Given the description of an element on the screen output the (x, y) to click on. 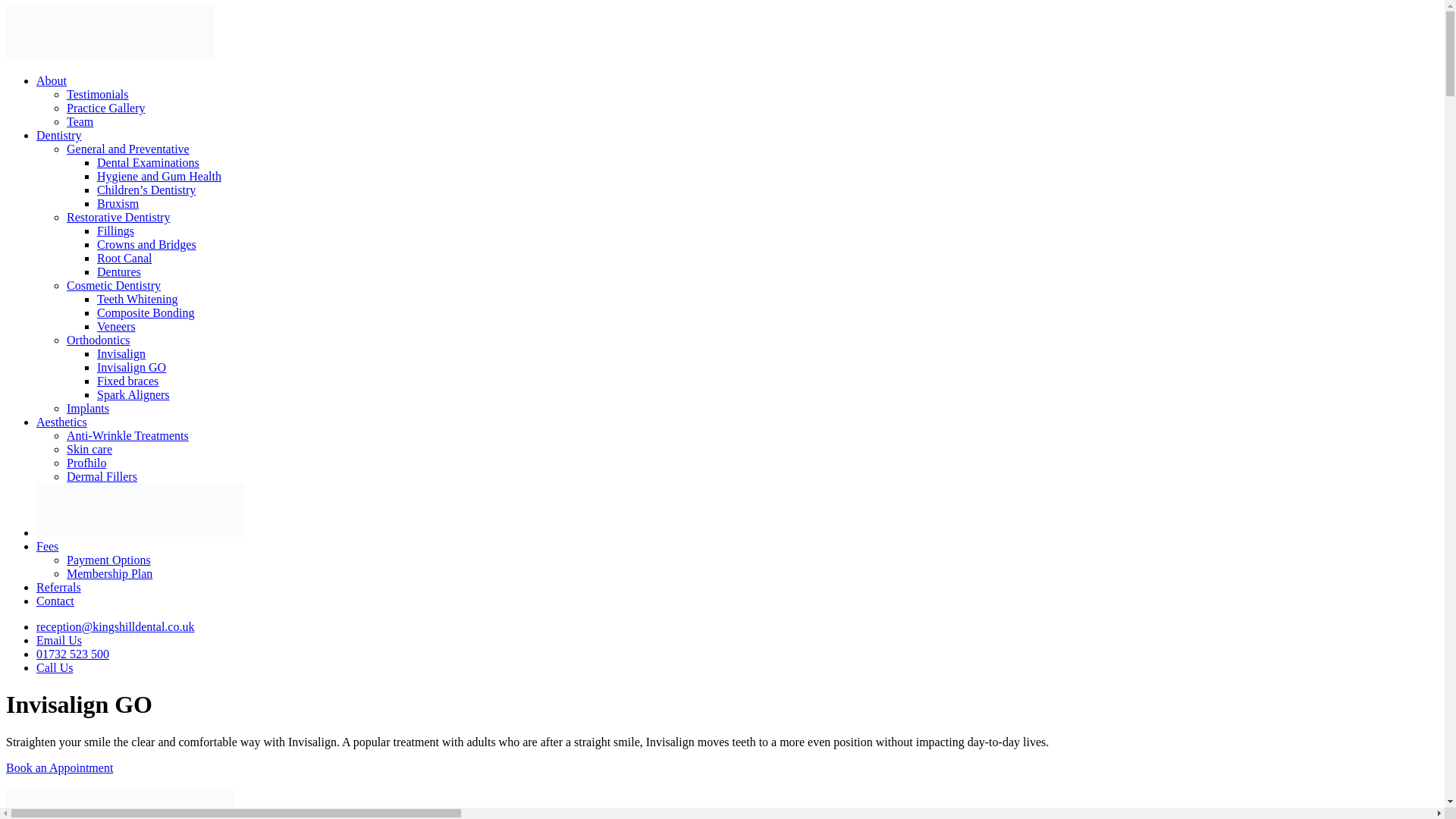
General and Preventative (127, 148)
Teeth Whitening (137, 298)
Payment Options (108, 559)
Anti-Wrinkle Treatments (127, 435)
01732 523 500 (72, 653)
Hygiene and Gum Health (159, 175)
Orthodontics (98, 339)
Restorative Dentistry (118, 216)
Profhilo (86, 462)
Root Canal (124, 257)
